Given the description of an element on the screen output the (x, y) to click on. 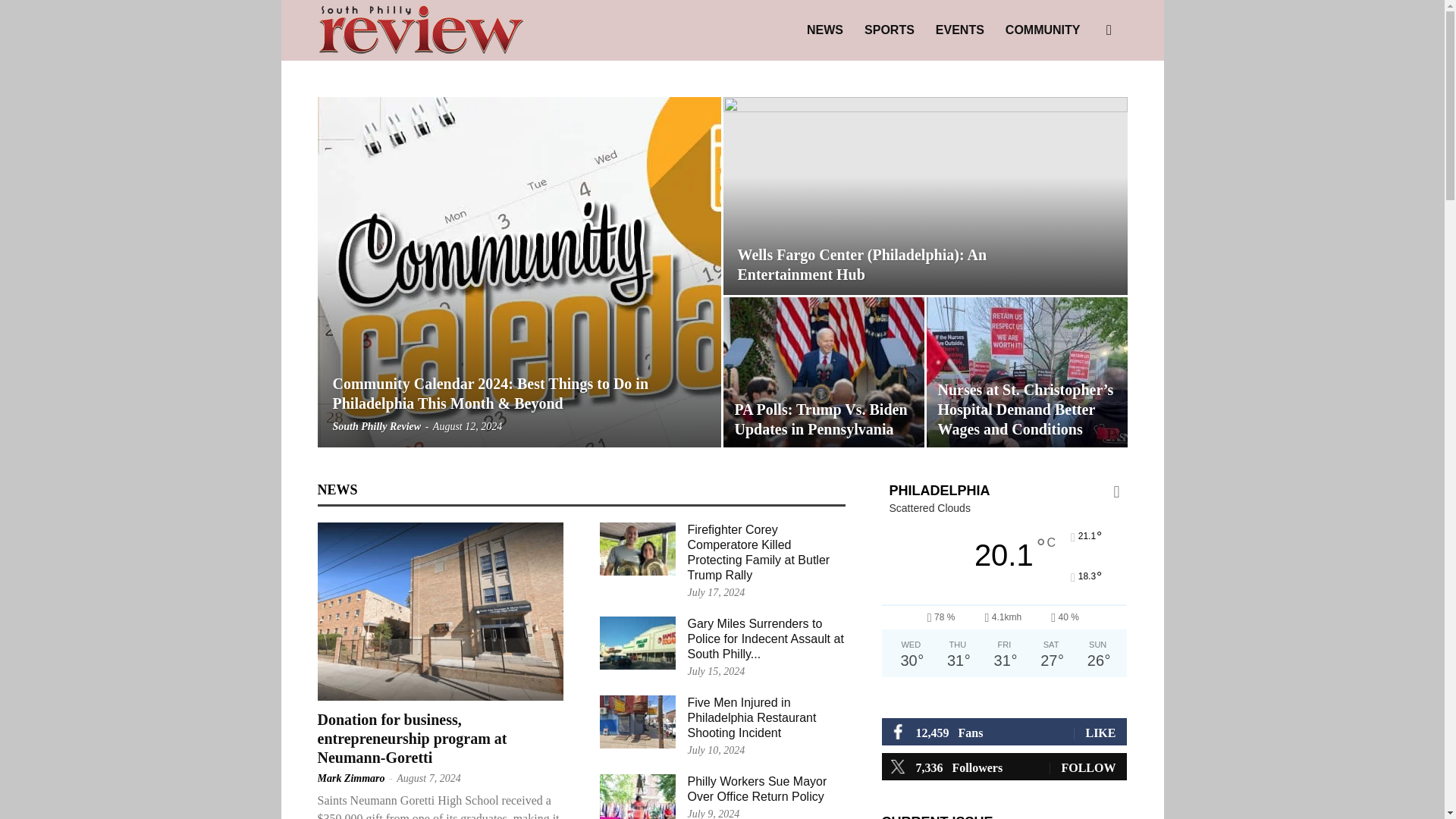
SPORTS (888, 30)
South Philly Review Archive (419, 31)
PA Polls: Trump Vs. Biden Updates in Pennsylvania (820, 419)
PA Polls: Trump Vs. Biden Updates in Pennsylvania (823, 372)
South Philly Review (419, 30)
Search (1085, 102)
COMMUNITY (1042, 30)
NEWS (824, 30)
EVENTS (959, 30)
